Given the description of an element on the screen output the (x, y) to click on. 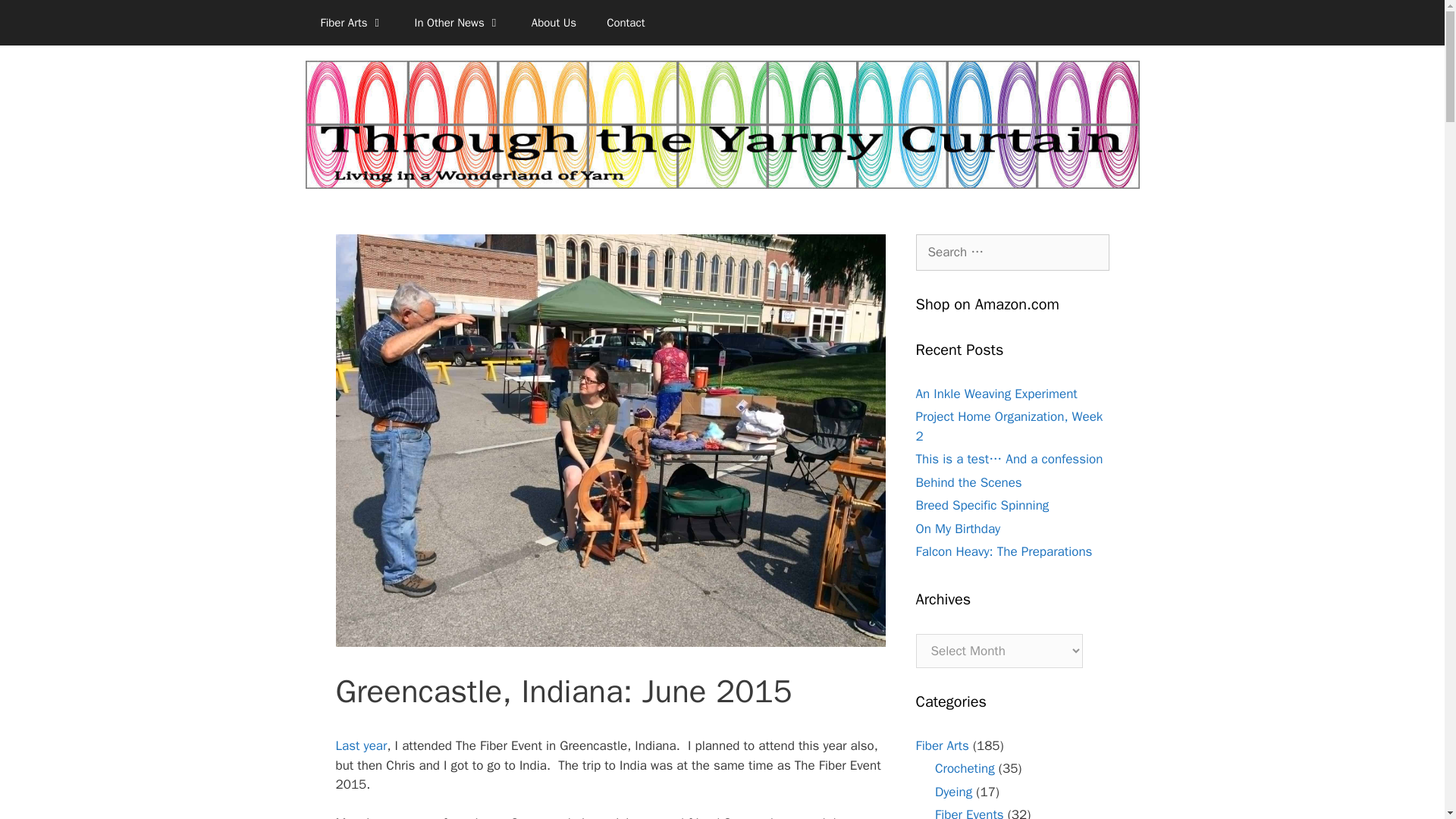
Search for: (1012, 252)
Fiber Arts (351, 22)
Last year (360, 745)
Contact (625, 22)
About Us (553, 22)
In Other News (457, 22)
